Given the description of an element on the screen output the (x, y) to click on. 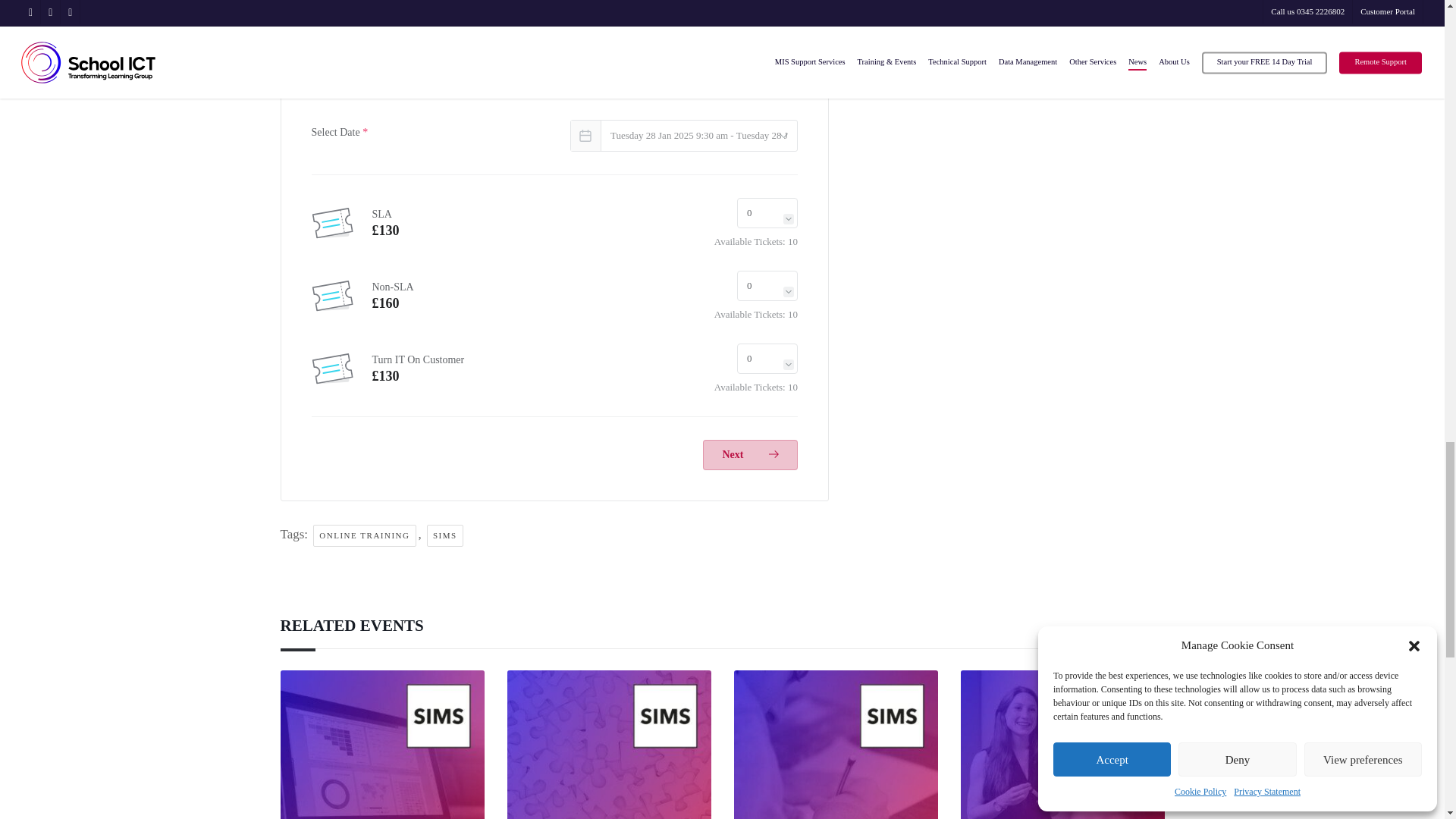
Count (766, 358)
Count (766, 213)
0 (766, 213)
0 (766, 286)
0 (766, 358)
Count (766, 286)
